Given the description of an element on the screen output the (x, y) to click on. 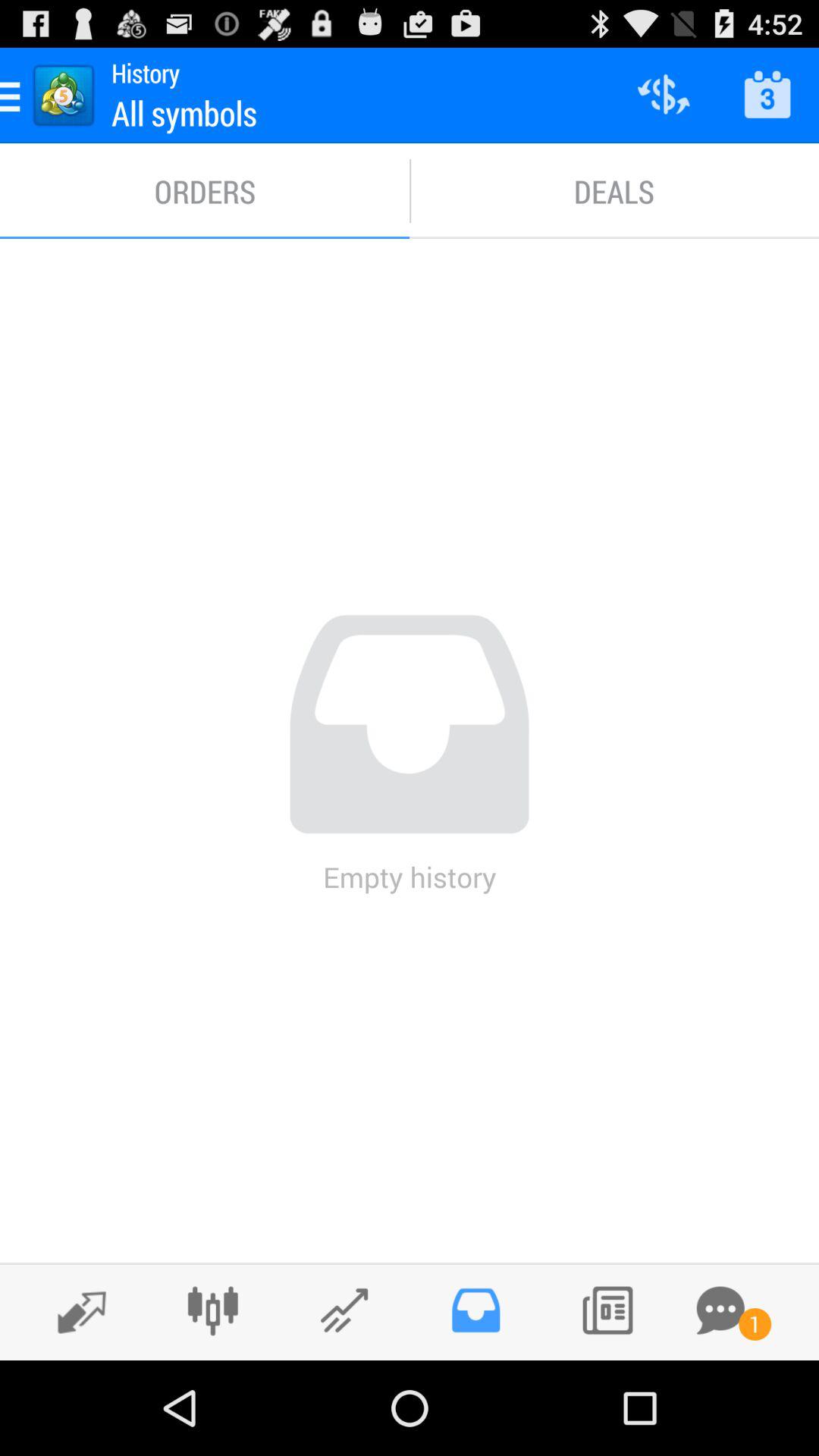
scroll until the deals item (614, 190)
